Given the description of an element on the screen output the (x, y) to click on. 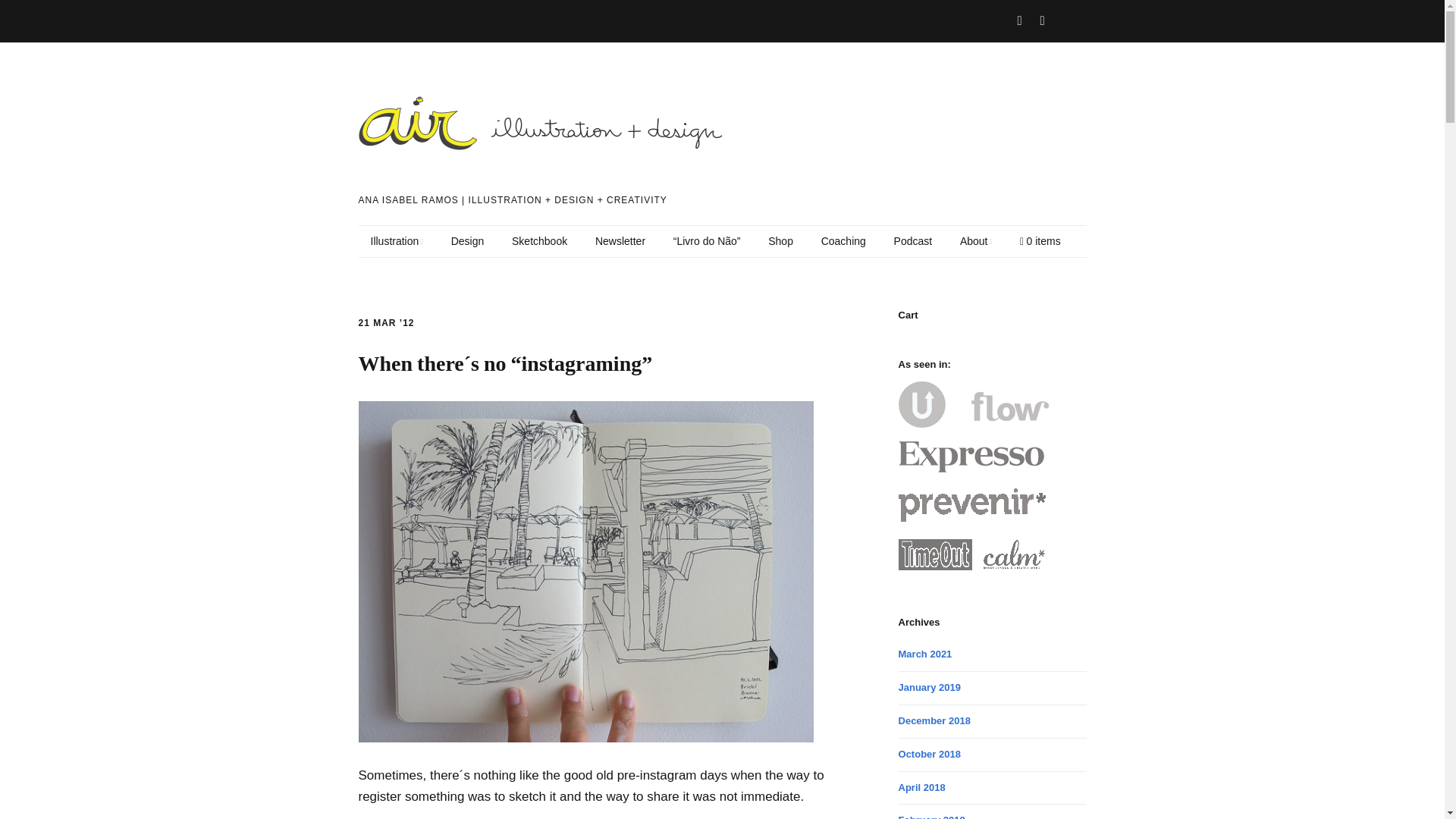
Coaching (843, 241)
Newsletter (620, 241)
About (975, 241)
Start shopping (1040, 241)
Design (467, 241)
Shop (780, 241)
Illustration (395, 241)
Relaxing by the pool by Ana Isabel Ramos, on Flickr (585, 738)
Sketchbook (539, 241)
0 items (1040, 241)
